Given the description of an element on the screen output the (x, y) to click on. 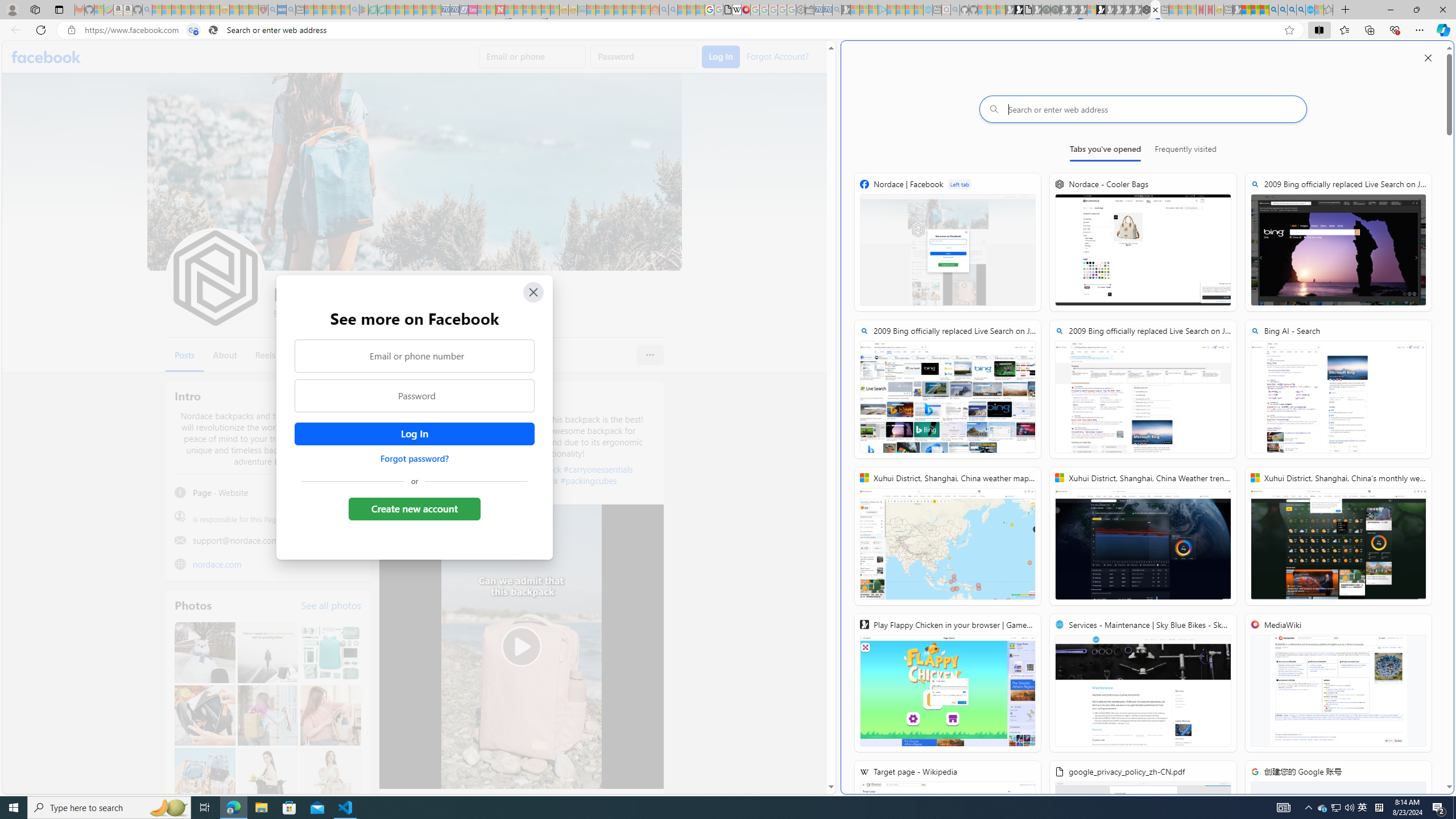
Bing AI - Search (1272, 9)
google_privacy_policy_zh-CN.pdf (726, 9)
New Report Confirms 2023 Was Record Hot | Watch - Sleeping (195, 9)
Bing Real Estate - Home sales and rental listings - Sleeping (836, 9)
Email or phone number (414, 355)
Forgot Account? (776, 55)
